Given the description of an element on the screen output the (x, y) to click on. 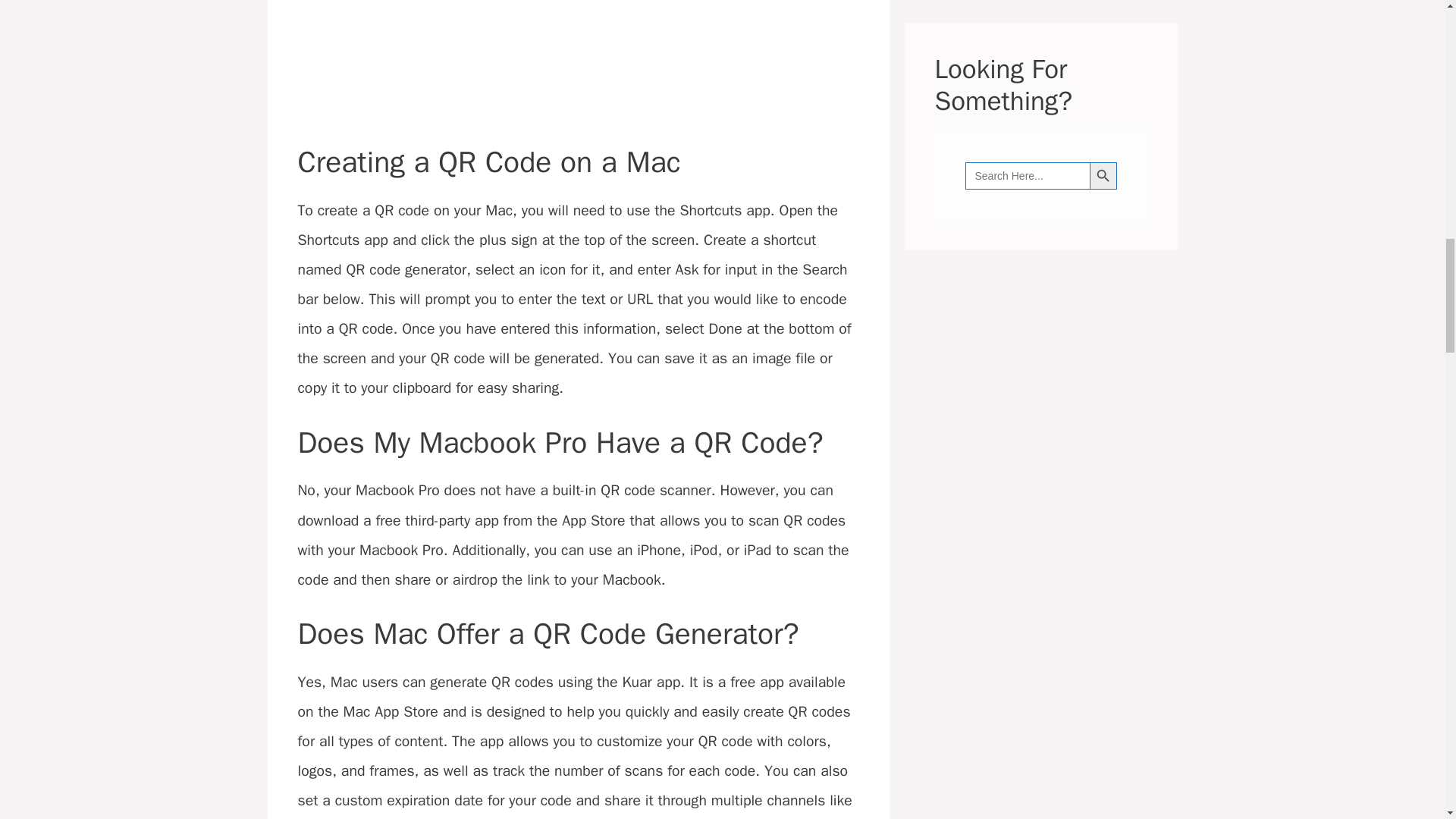
How to Create QR Codes on Your Mac? 2 (578, 64)
